Given the description of an element on the screen output the (x, y) to click on. 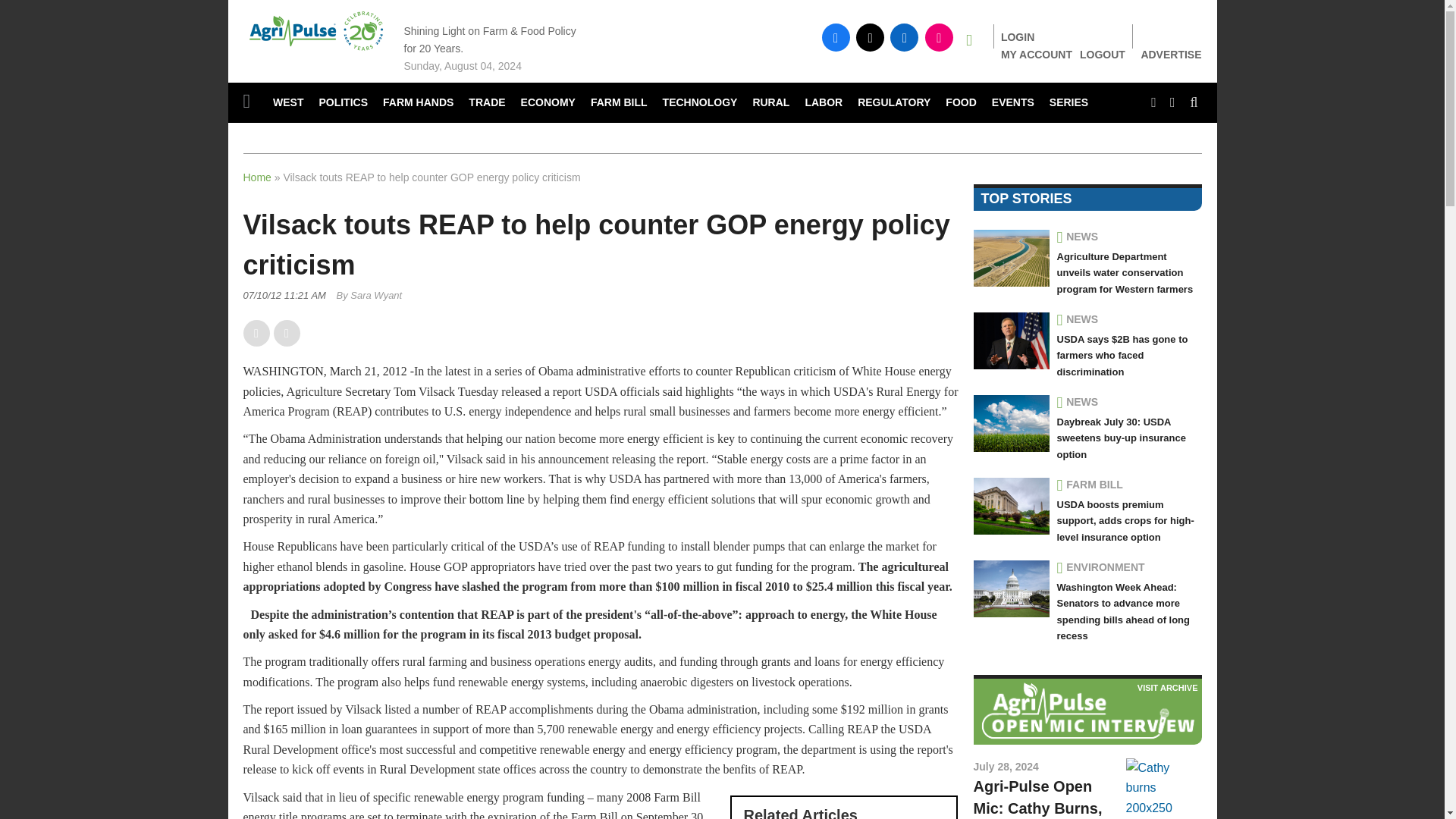
REGULATORY (893, 102)
LABOR (823, 102)
MY ACCOUNT (1036, 54)
EVENTS (1013, 102)
TECHNOLOGY (700, 102)
WEST (287, 102)
FOOD (960, 102)
LOGOUT (1102, 54)
TRADE (486, 102)
POLITICS (343, 102)
